Given the description of an element on the screen output the (x, y) to click on. 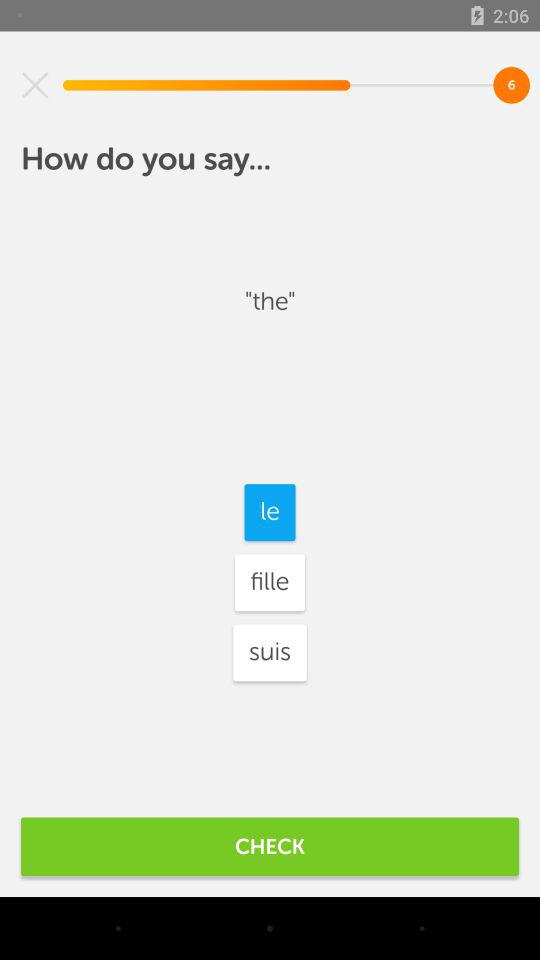
turn off the item at the top left corner (35, 85)
